Given the description of an element on the screen output the (x, y) to click on. 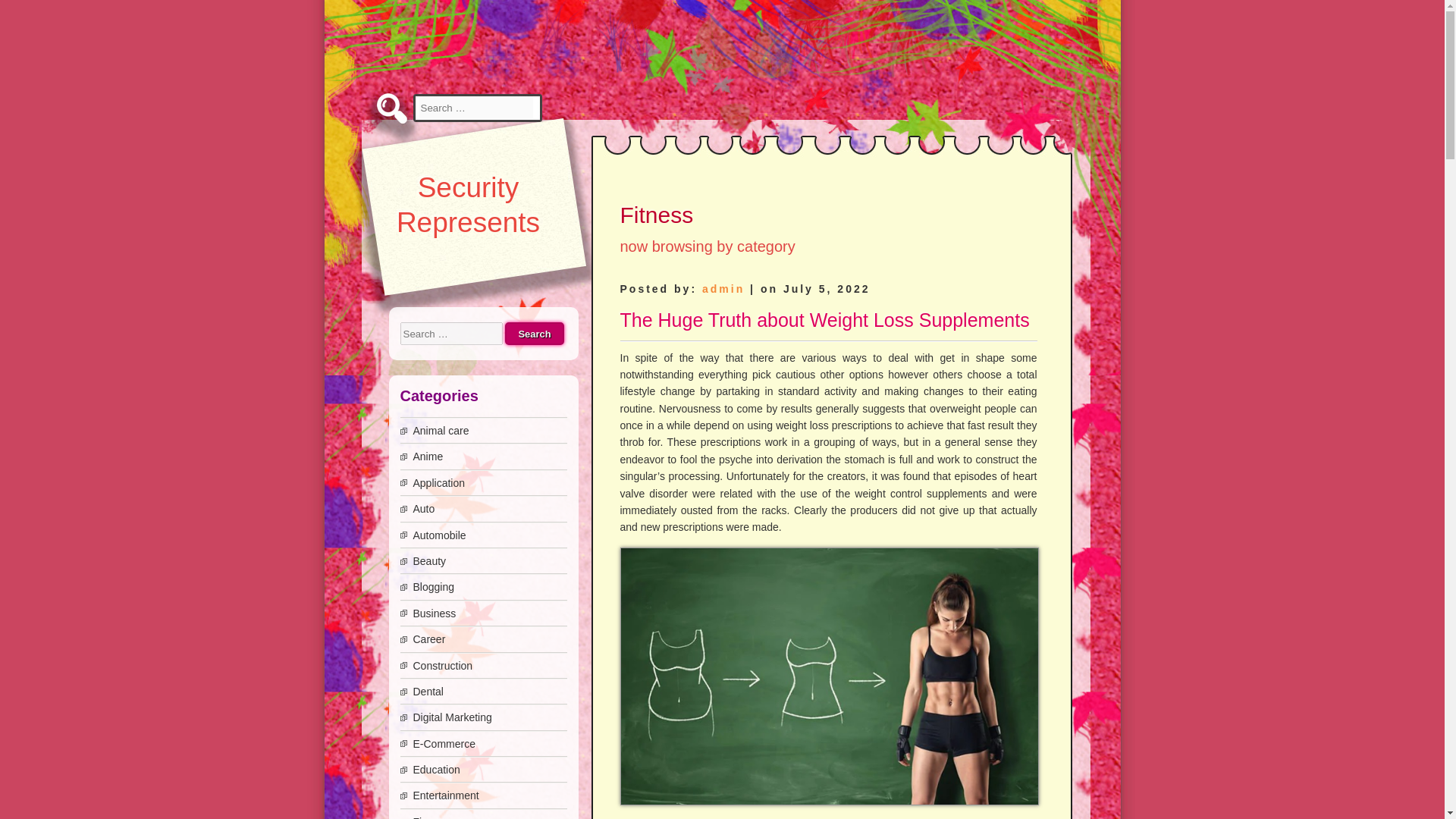
Search (534, 333)
Search (29, 11)
Automobile (438, 535)
admin (722, 288)
Posts by admin (722, 288)
Education (436, 769)
Auto (422, 508)
Search (534, 333)
Blogging (433, 586)
Search (534, 333)
Finance (430, 817)
Dental (427, 691)
Beauty (428, 561)
Career (428, 639)
Business (433, 613)
